Given the description of an element on the screen output the (x, y) to click on. 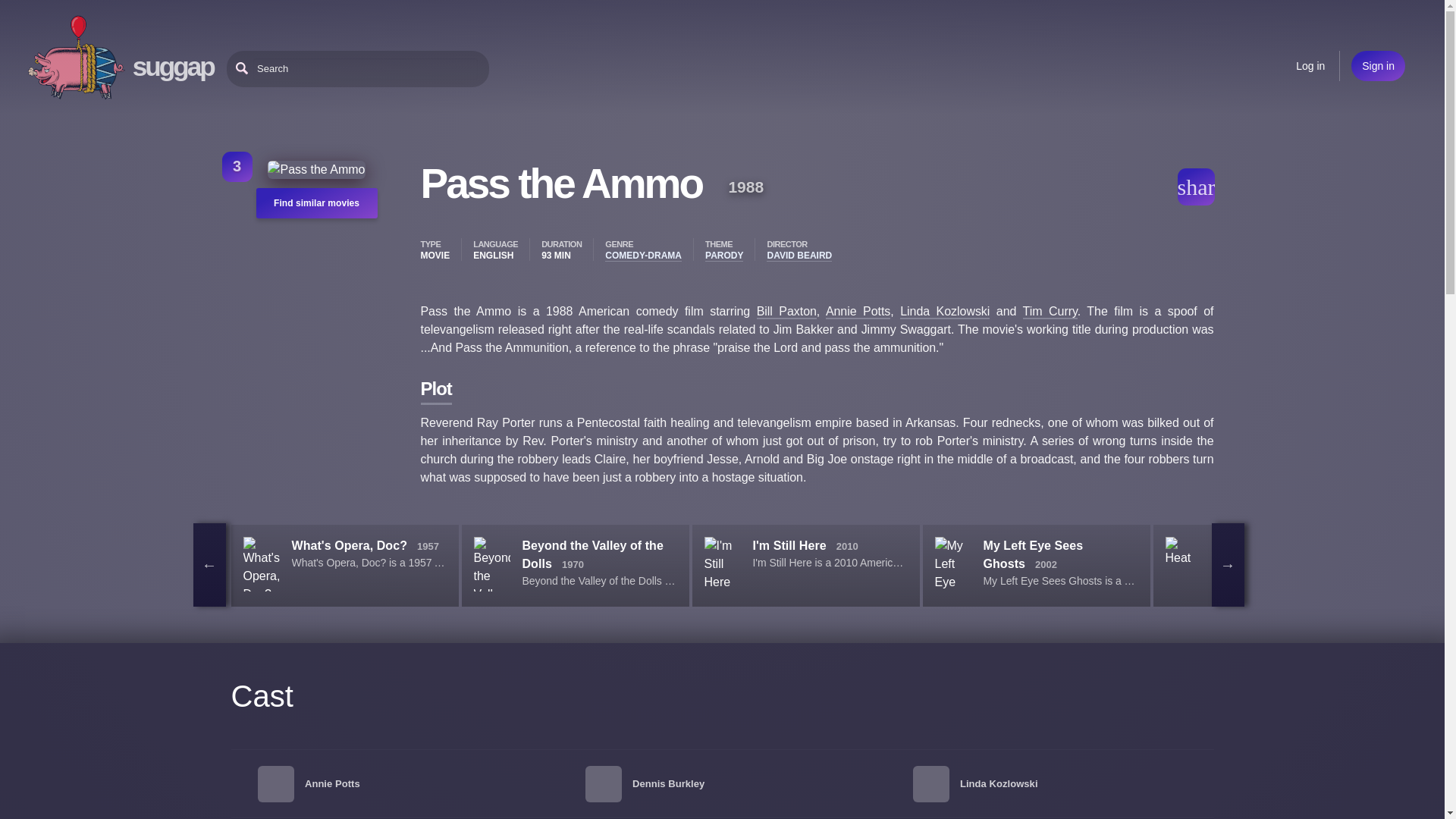
Log in (1309, 65)
suggap (173, 66)
Find similar movies (316, 203)
Previous (208, 564)
PARODY (723, 255)
Oink, oink... (76, 57)
Tim Curry (1050, 311)
Sign in (1378, 65)
What's Opera, Doc? (348, 545)
share (1195, 186)
Linda Kozlowski (944, 311)
I'm Still Here (788, 545)
COMEDY-DRAMA (643, 255)
Bill Paxton (786, 311)
My Left Eye Sees Ghosts (1032, 554)
